Given the description of an element on the screen output the (x, y) to click on. 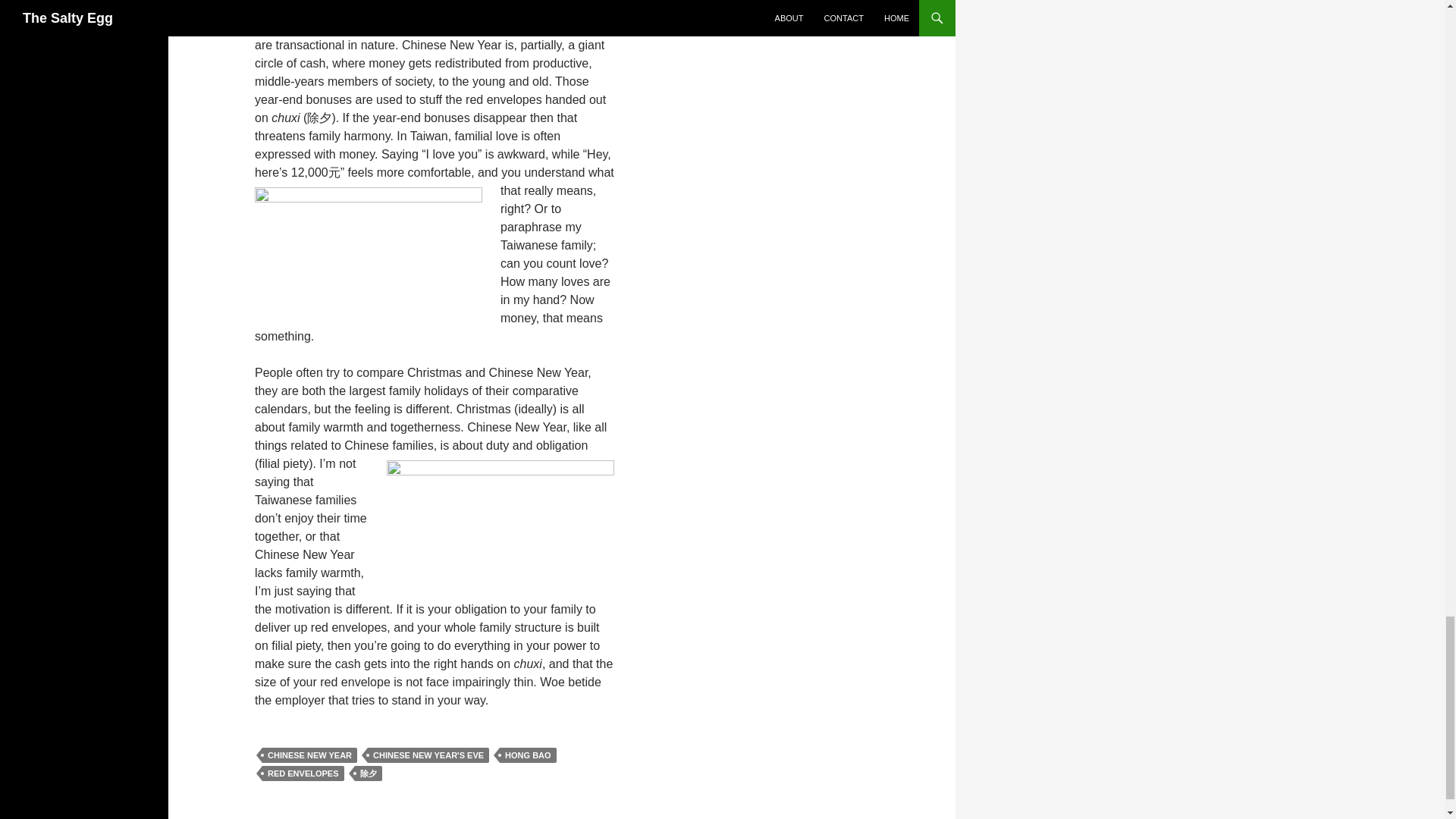
HONG BAO (527, 754)
RED ENVELOPES (302, 773)
CHINESE NEW YEAR (309, 754)
CHINESE NEW YEAR'S EVE (428, 754)
